Given the description of an element on the screen output the (x, y) to click on. 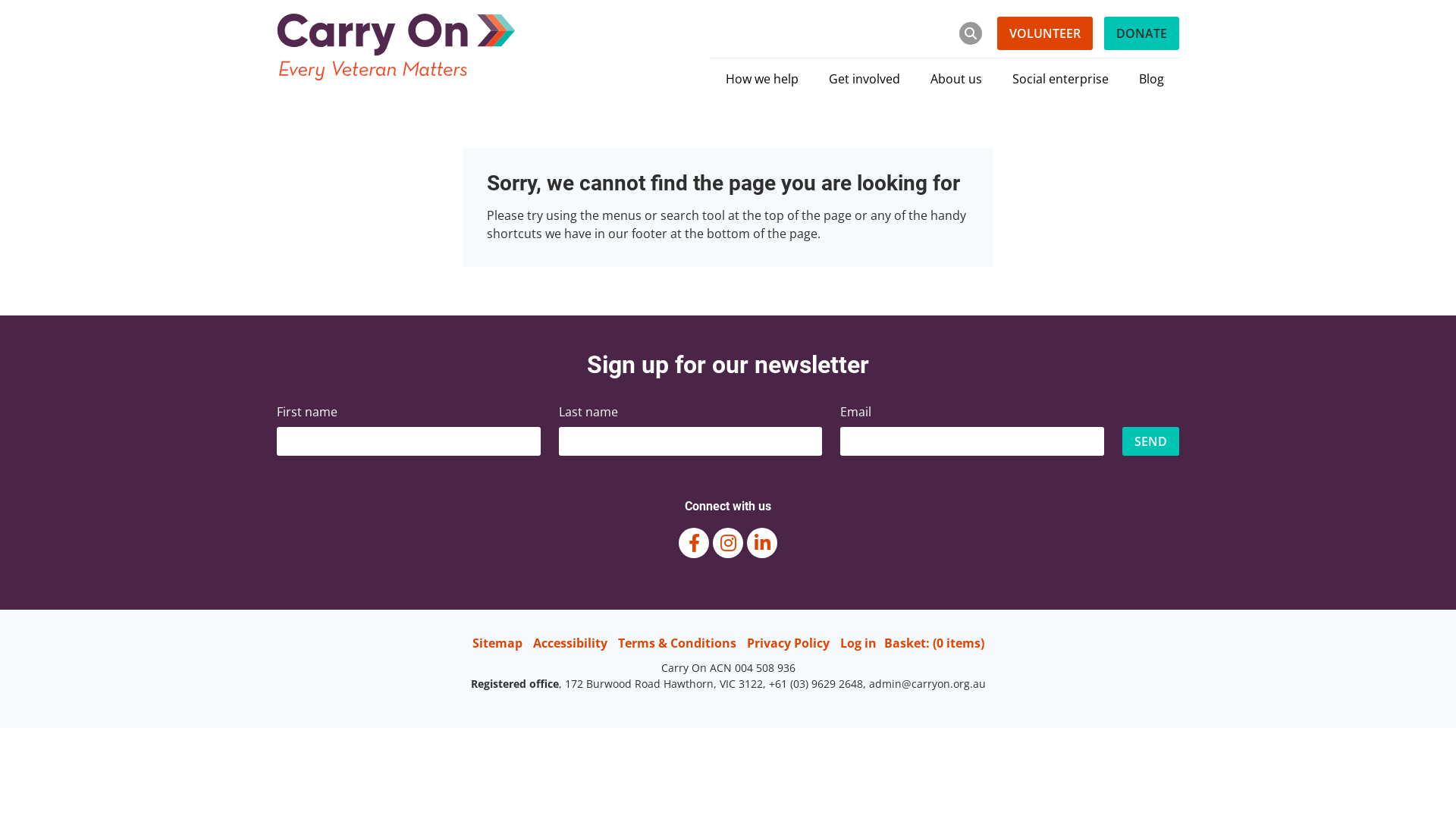
Privacy Policy Element type: text (787, 642)
first name Element type: hover (408, 440)
linkedin Element type: text (761, 542)
instagram Element type: text (727, 542)
Get involved Element type: text (864, 78)
Facebook Element type: text (693, 542)
Social enterprise Element type: text (1060, 78)
About us Element type: text (956, 78)
Basket: (0 items) Element type: text (934, 642)
Carry On Element type: text (395, 46)
SEARCH Element type: text (970, 32)
Log in Element type: text (858, 642)
SEND Element type: text (1150, 440)
email Element type: hover (972, 440)
How we help Element type: text (761, 78)
Search Element type: hover (958, 32)
VOLUNTEER Element type: text (1044, 33)
Terms & Conditions Element type: text (676, 642)
Accessibility Element type: text (569, 642)
Sitemap Element type: text (496, 642)
last name Element type: hover (690, 440)
Blog Element type: text (1151, 78)
DONATE Element type: text (1141, 33)
